Given the description of an element on the screen output the (x, y) to click on. 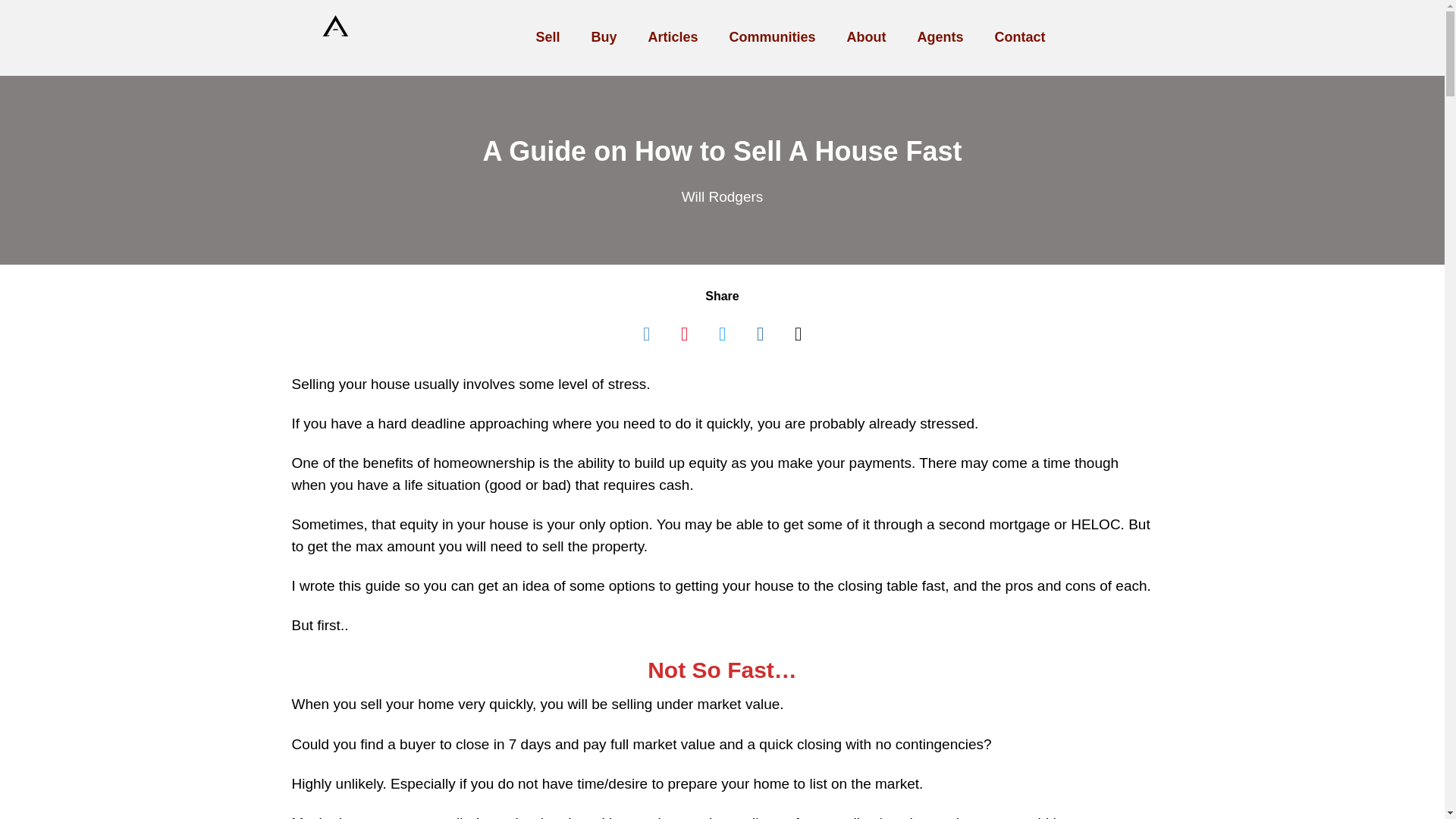
Will Rodgers (721, 196)
Buy (603, 36)
Communities (772, 36)
Articles (672, 36)
About (866, 36)
Sell (547, 36)
AREG-Logo (335, 37)
Contact (1020, 36)
Agents (940, 36)
